Given the description of an element on the screen output the (x, y) to click on. 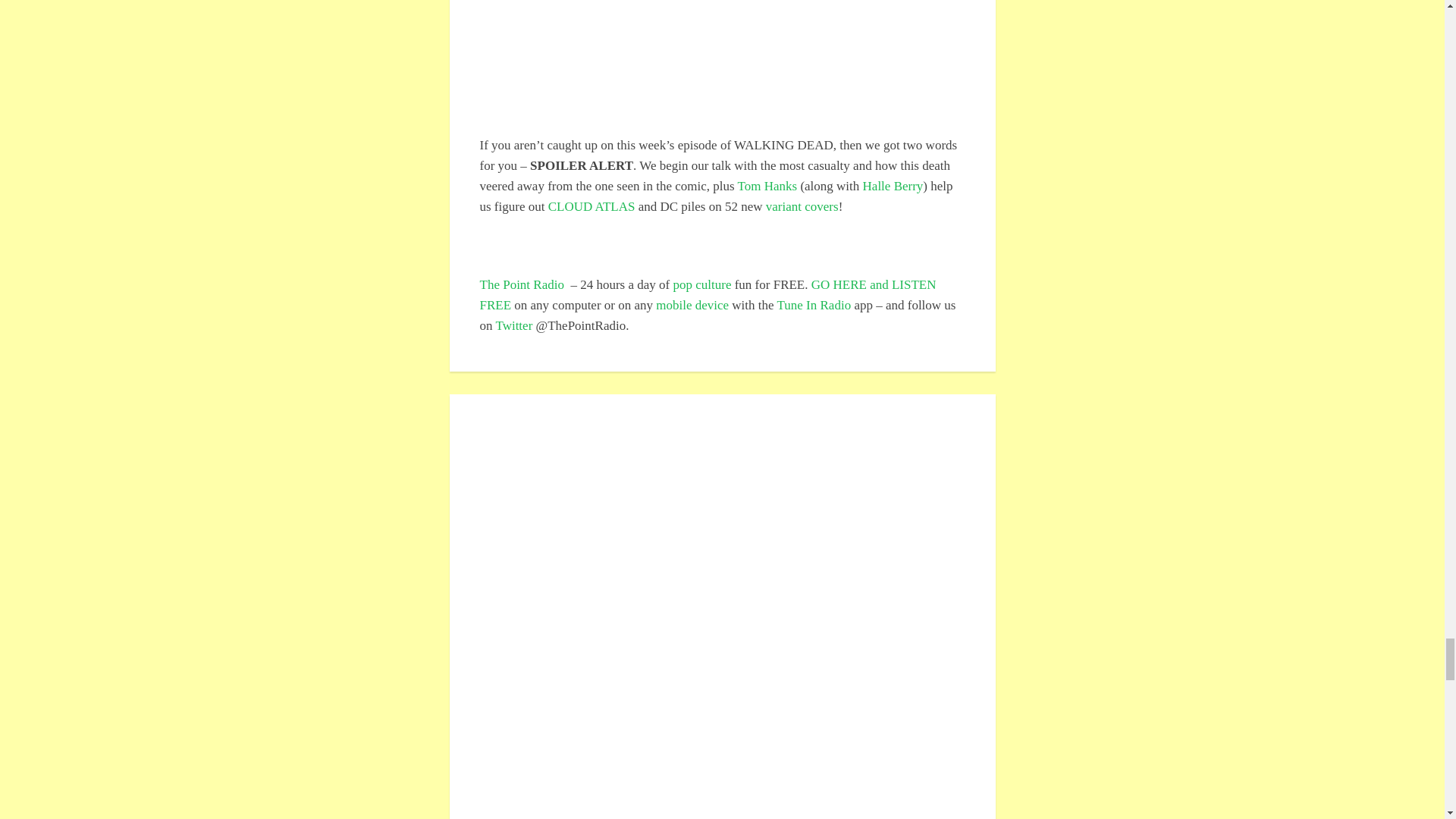
Tom Hanks (767, 186)
Halle Berry (893, 186)
